Given the description of an element on the screen output the (x, y) to click on. 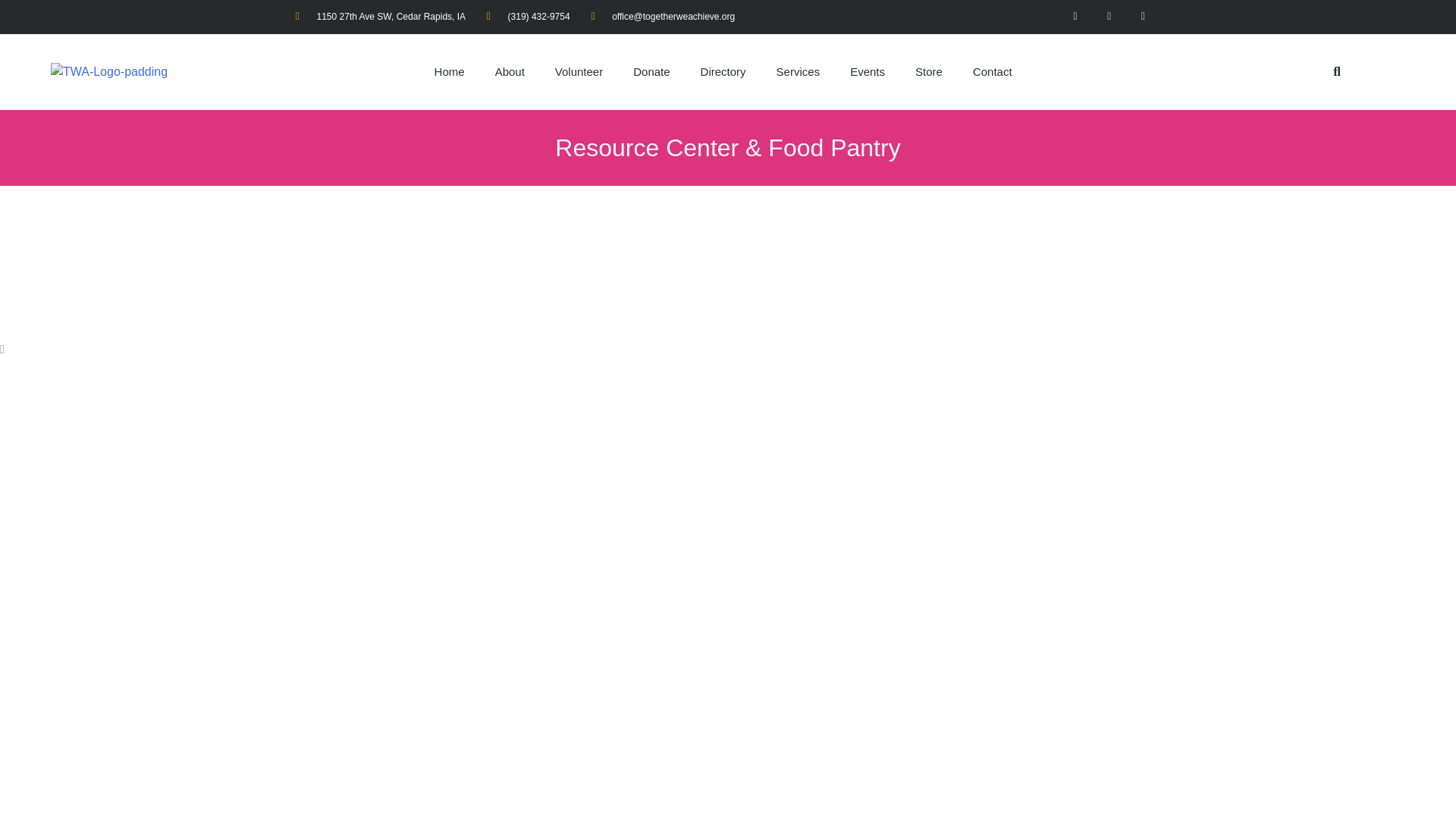
Contact (992, 71)
Services (798, 71)
Directory (723, 71)
Volunteer (578, 71)
TWA-Logo-padding (108, 72)
